Given the description of an element on the screen output the (x, y) to click on. 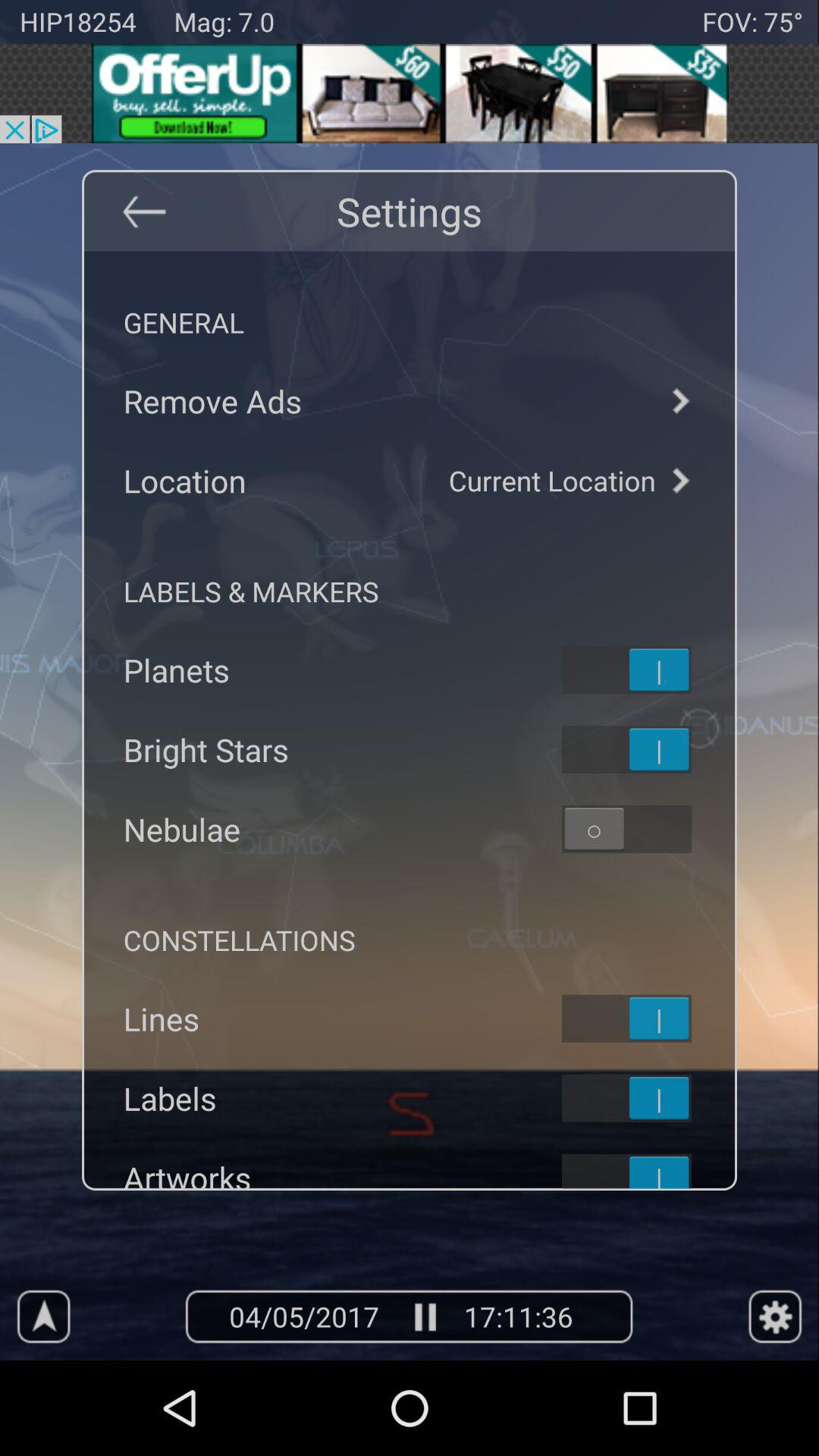
back button (143, 211)
